Given the description of an element on the screen output the (x, y) to click on. 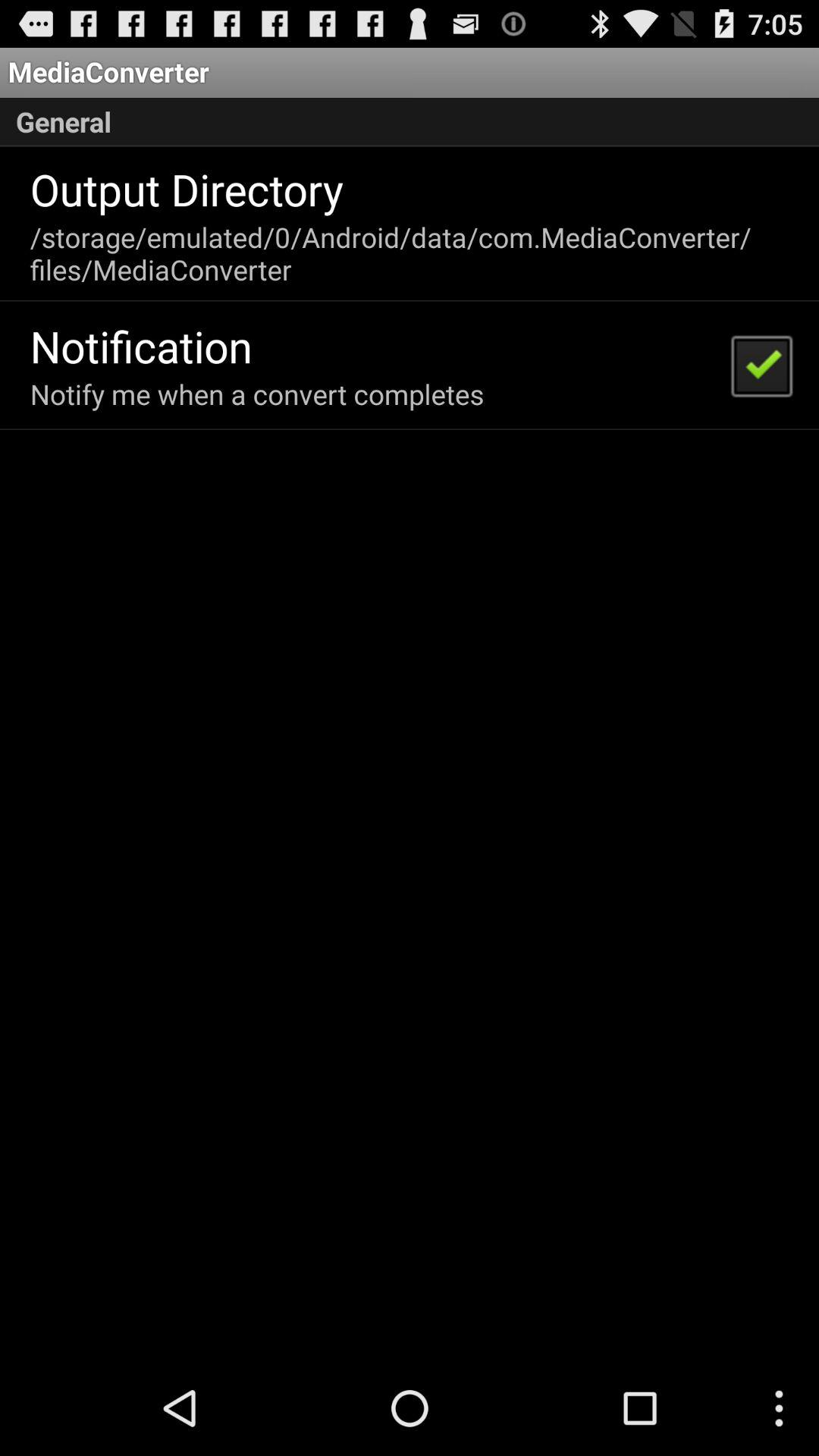
turn on the item above the notification item (408, 253)
